Given the description of an element on the screen output the (x, y) to click on. 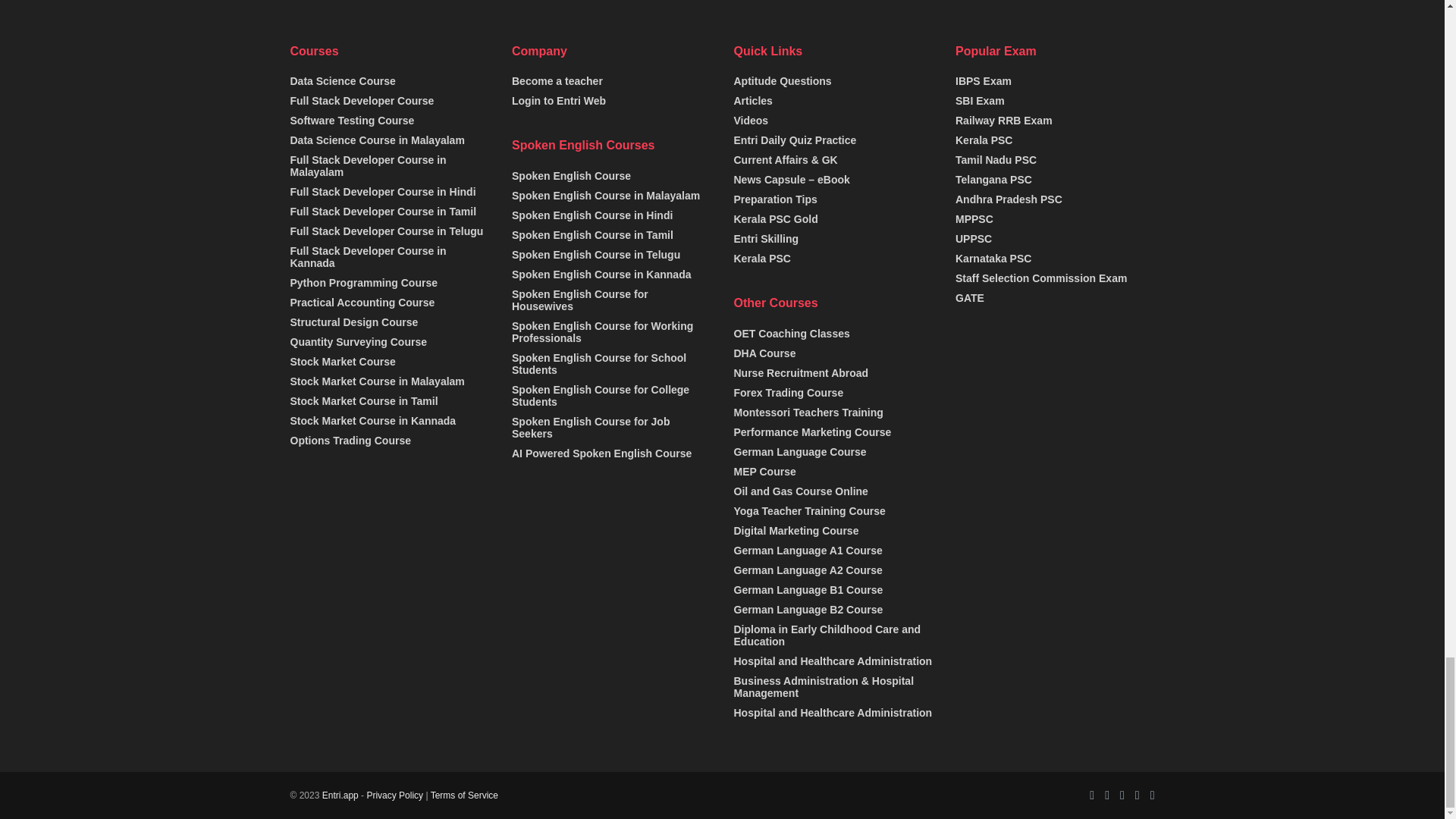
Entri (339, 795)
Terms of Service (463, 795)
